Given the description of an element on the screen output the (x, y) to click on. 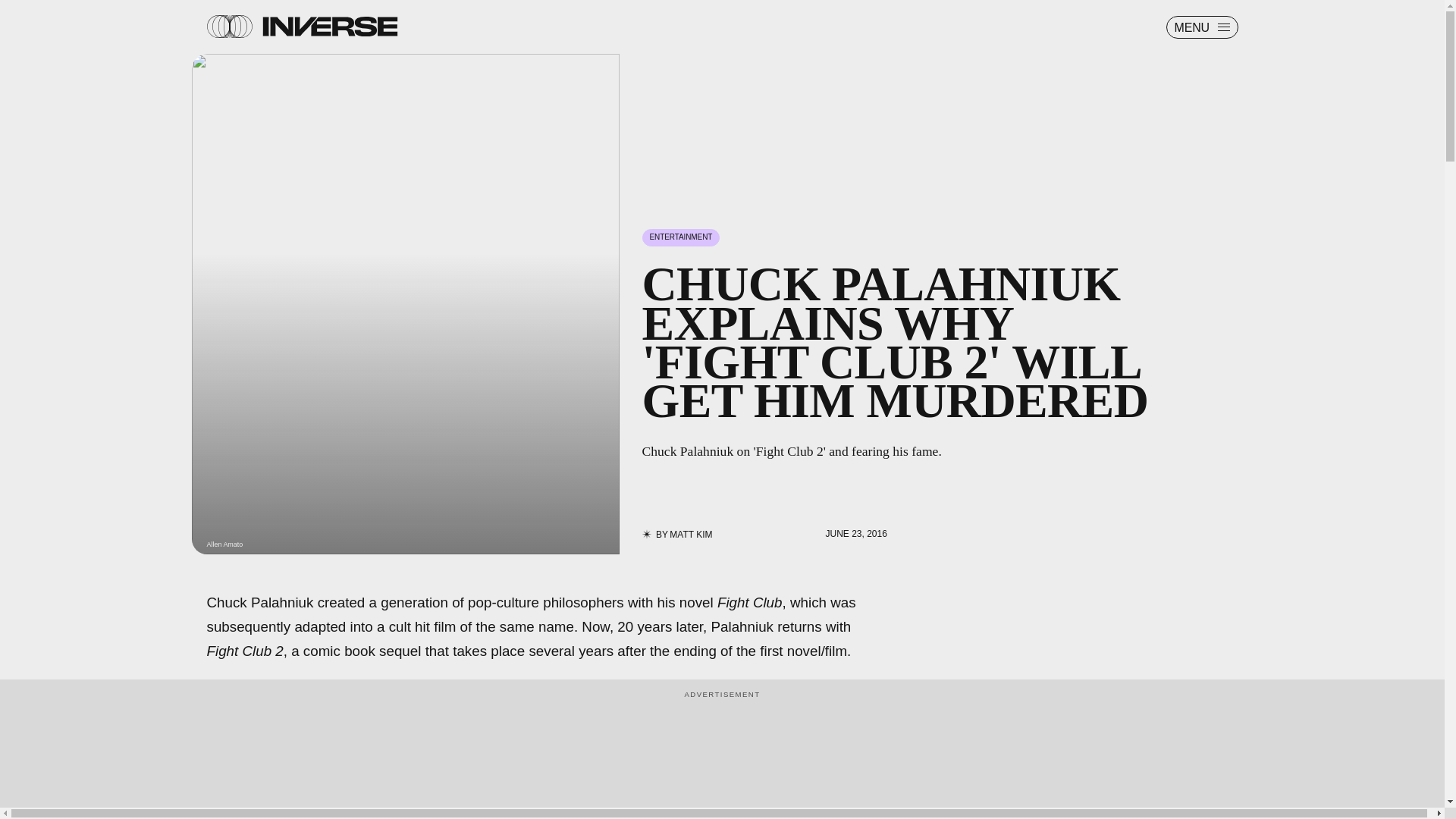
MATT KIM (690, 533)
Inverse (328, 26)
